Given the description of an element on the screen output the (x, y) to click on. 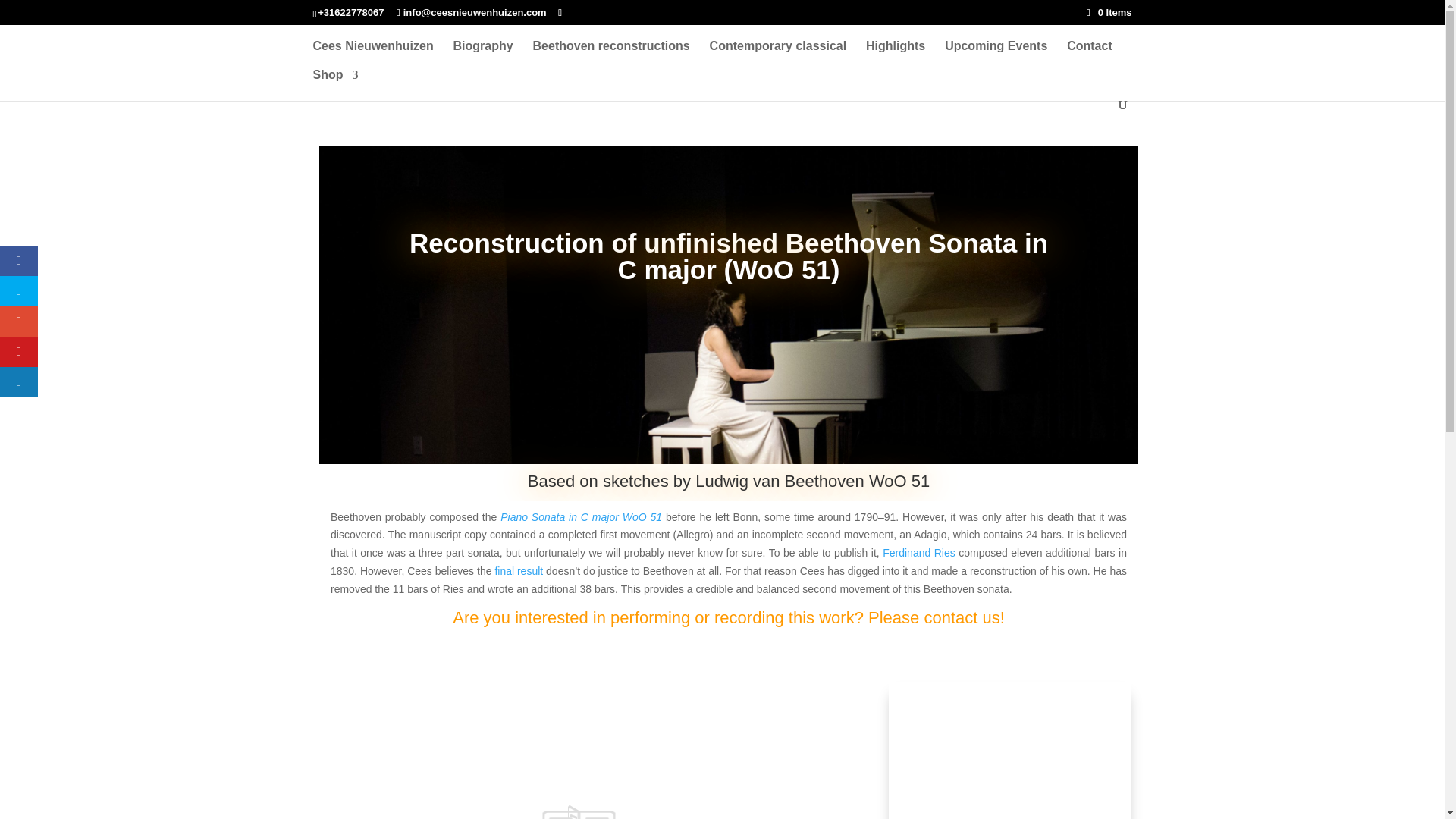
Shop (335, 83)
Contemporary classical (778, 54)
Biography (482, 54)
contact us! (963, 617)
0 Items (1109, 12)
Ferdinand Ries on Wikipedia (918, 552)
Contact about WoO 51 (963, 617)
Ferdinand Ries (918, 552)
Beethoven reconstructions (611, 54)
